Given the description of an element on the screen output the (x, y) to click on. 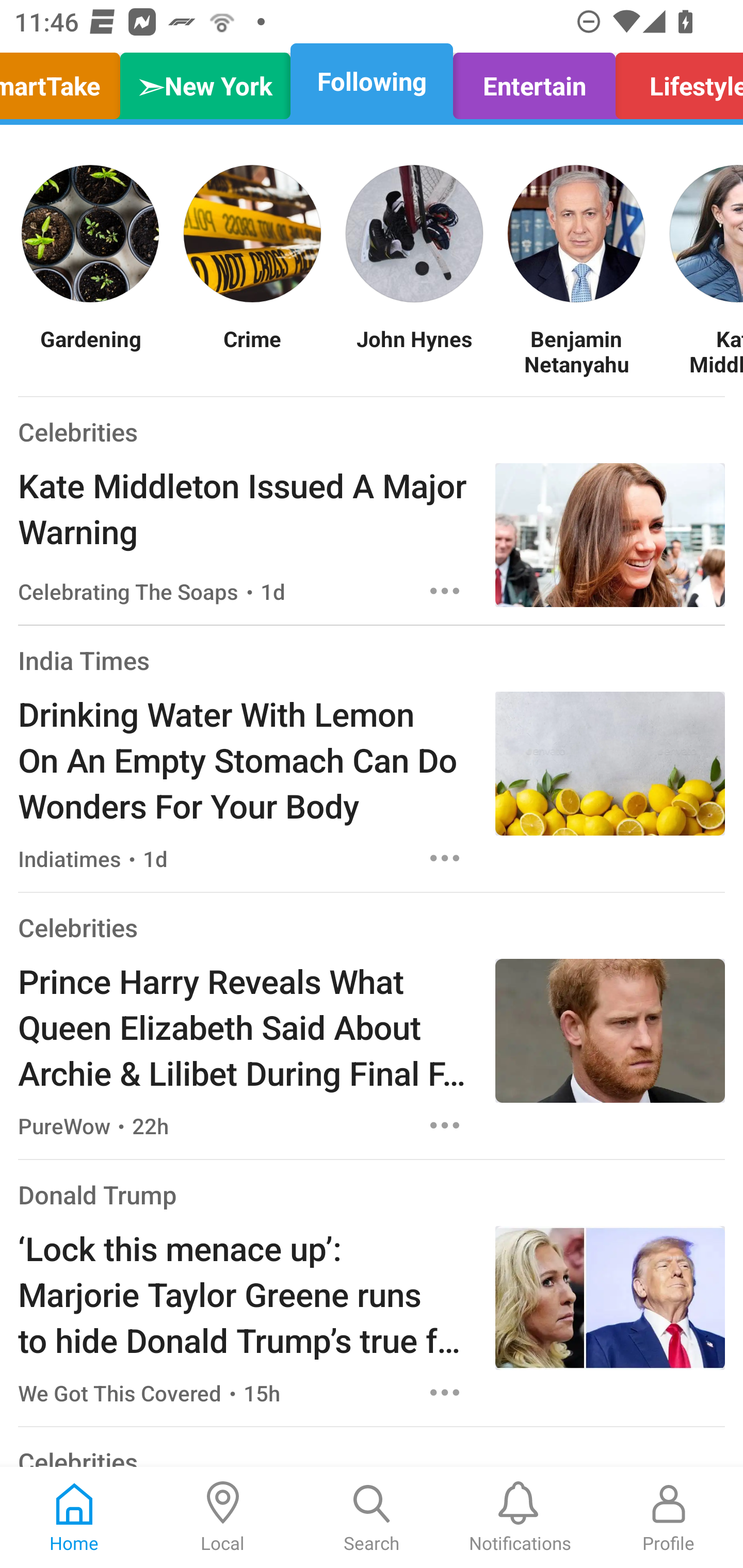
➣New York (205, 81)
Following (371, 81)
Entertain (534, 81)
Gardening (89, 350)
Crime (251, 350)
John Hynes (413, 350)
Benjamin Netanyahu (575, 350)
Celebrities (77, 430)
Options (444, 591)
India Times (83, 659)
Options (444, 858)
Celebrities (77, 927)
Options (444, 1125)
Donald Trump (97, 1194)
Options (444, 1392)
Local (222, 1517)
Search (371, 1517)
Notifications (519, 1517)
Profile (668, 1517)
